Given the description of an element on the screen output the (x, y) to click on. 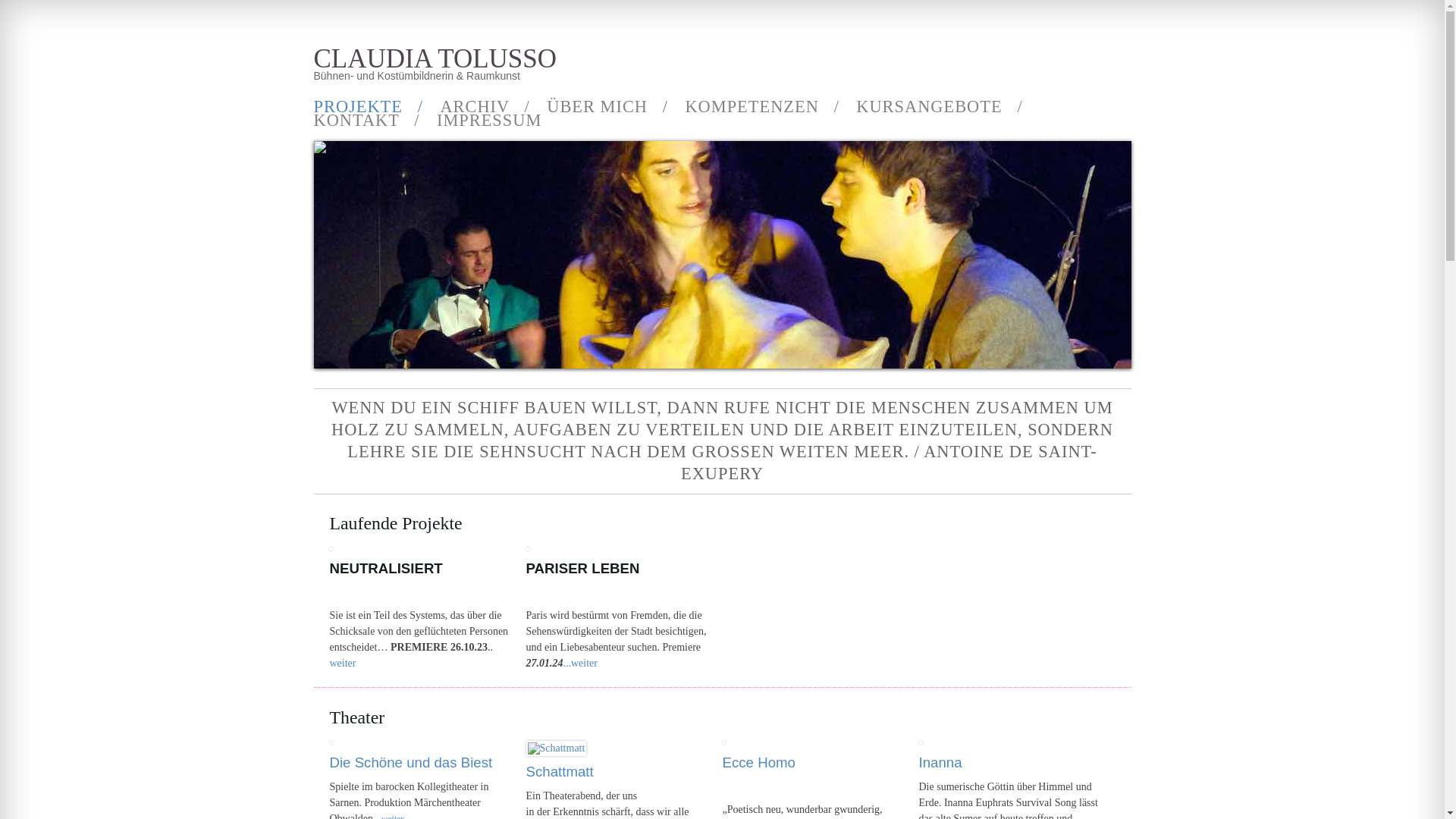
Schattmatt Element type: text (559, 771)
IMPRESSUM Element type: text (488, 120)
Detailseite - Schattmatt Element type: hover (556, 747)
KURSANGEBOTE   / Element type: text (939, 106)
KOMPETENZEN   / Element type: text (761, 106)
ARCHIV   / Element type: text (484, 106)
Ecce Homo Element type: text (757, 762)
PROJEKTE   / Element type: text (368, 106)
weiter Element type: text (342, 662)
...weiter Element type: text (579, 662)
KONTAKT   / Element type: text (366, 120)
Inanna Element type: text (940, 762)
